Given the description of an element on the screen output the (x, y) to click on. 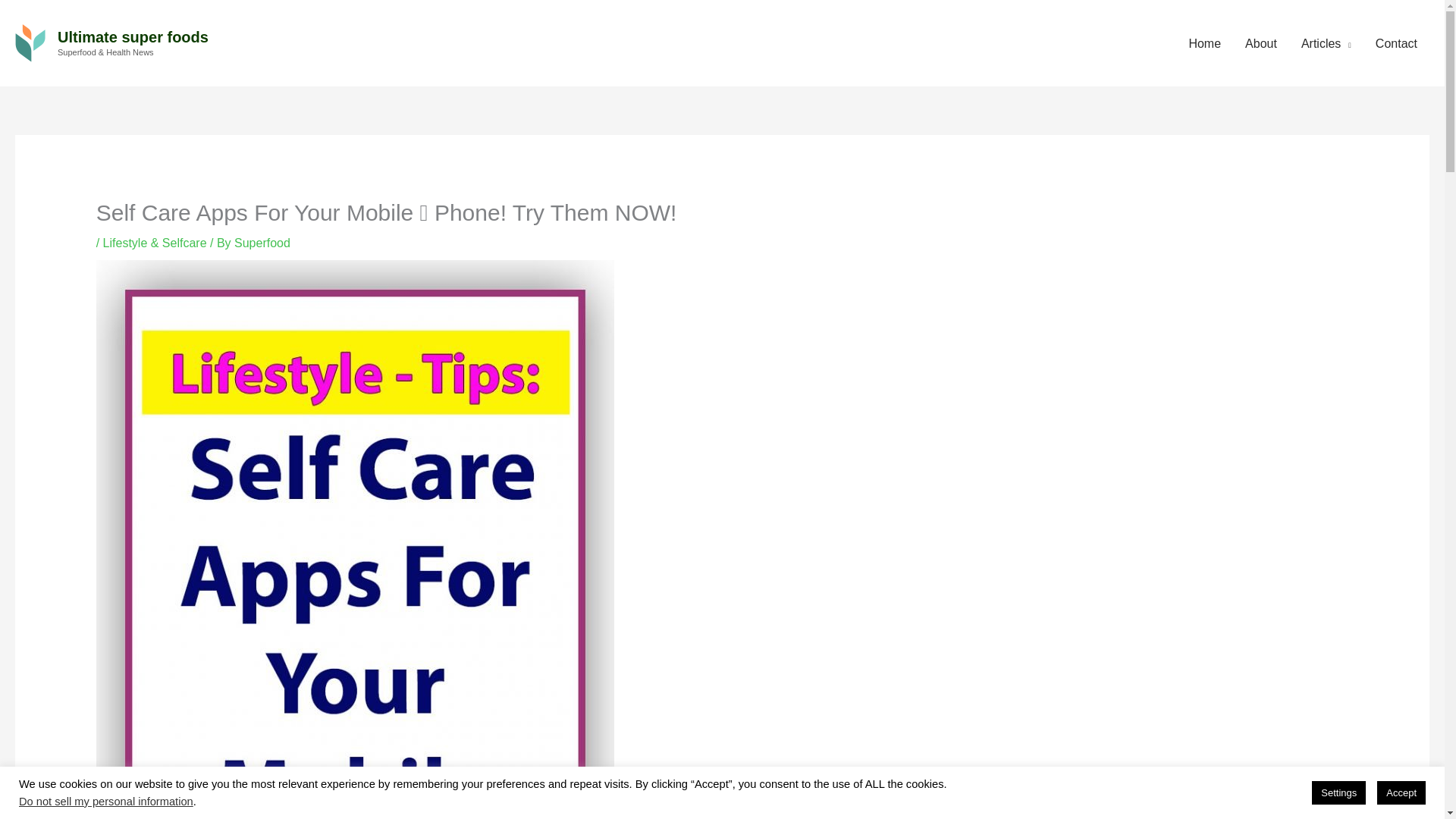
Ultimate super foods (133, 36)
About (1260, 43)
Articles (1325, 43)
Superfood (261, 242)
Home (1204, 43)
View all posts by Superfood (261, 242)
Contact (1395, 43)
